Given the description of an element on the screen output the (x, y) to click on. 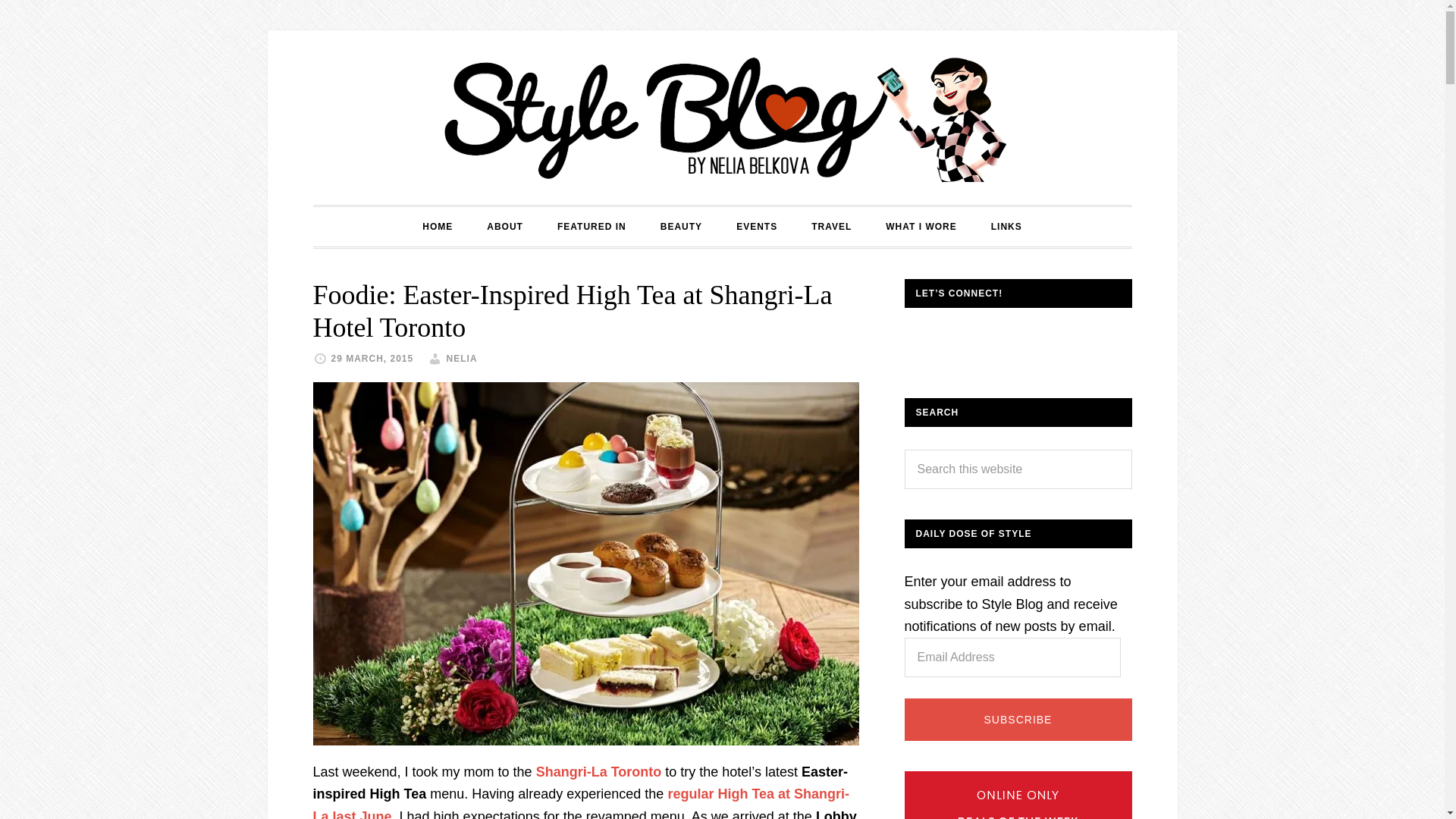
EVENTS (756, 226)
SUBSCRIBE (1017, 719)
TRAVEL (831, 226)
regular High Tea at Shangri-La last June (580, 802)
NELIA (461, 357)
FEATURED IN (591, 226)
Shangri-La Toronto (598, 771)
LINKS (1005, 226)
HOME (437, 226)
ABOUT (504, 226)
BEAUTY (681, 226)
WHAT I WORE (920, 226)
